Given the description of an element on the screen output the (x, y) to click on. 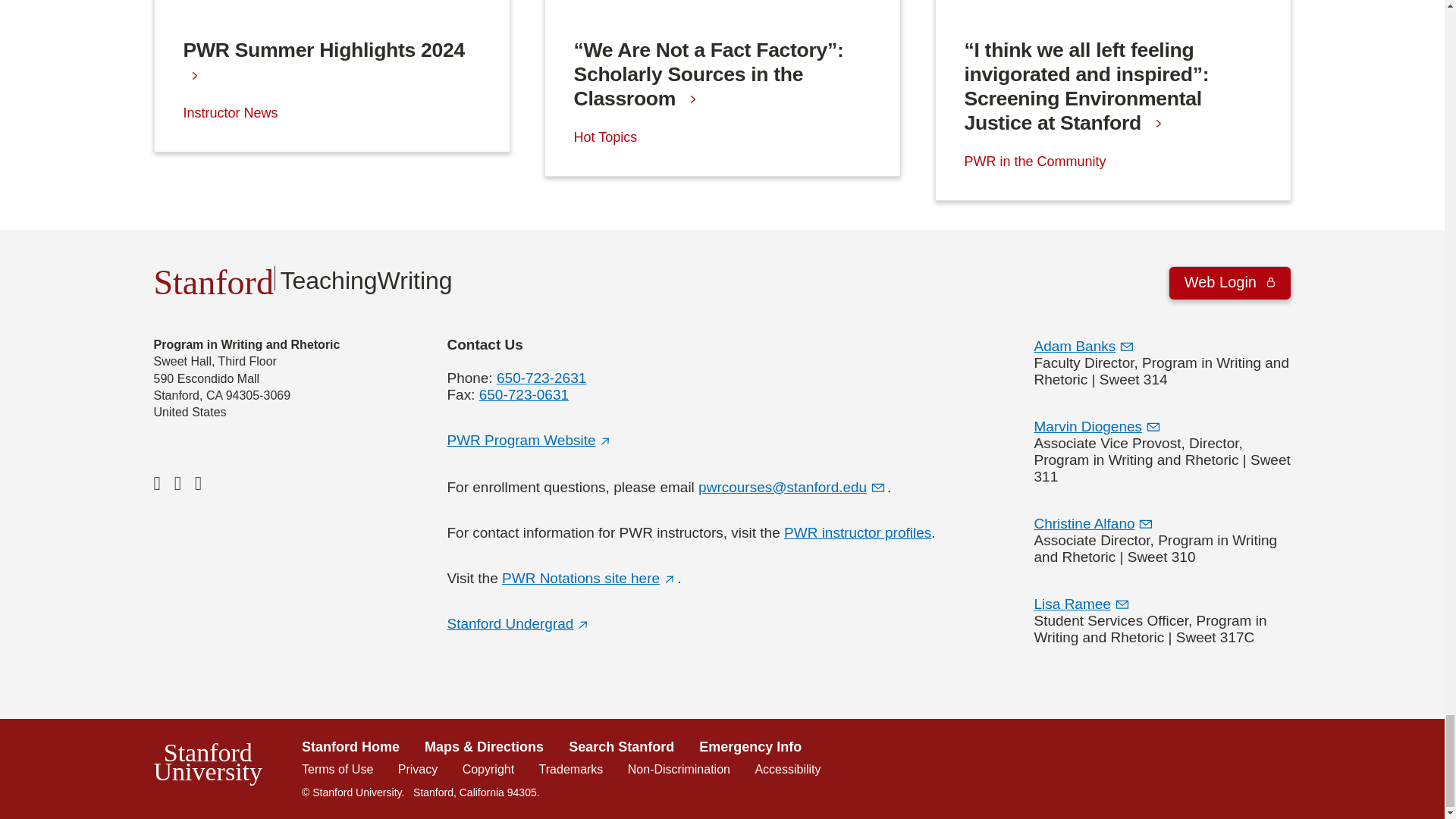
Non-discrimination policy (678, 768)
Report alleged copyright infringement (488, 768)
Report web accessibility issues (787, 768)
Ownership and use of Stanford trademarks and images (571, 768)
Privacy and cookie policy (417, 768)
Terms of use for sites (336, 768)
